Given the description of an element on the screen output the (x, y) to click on. 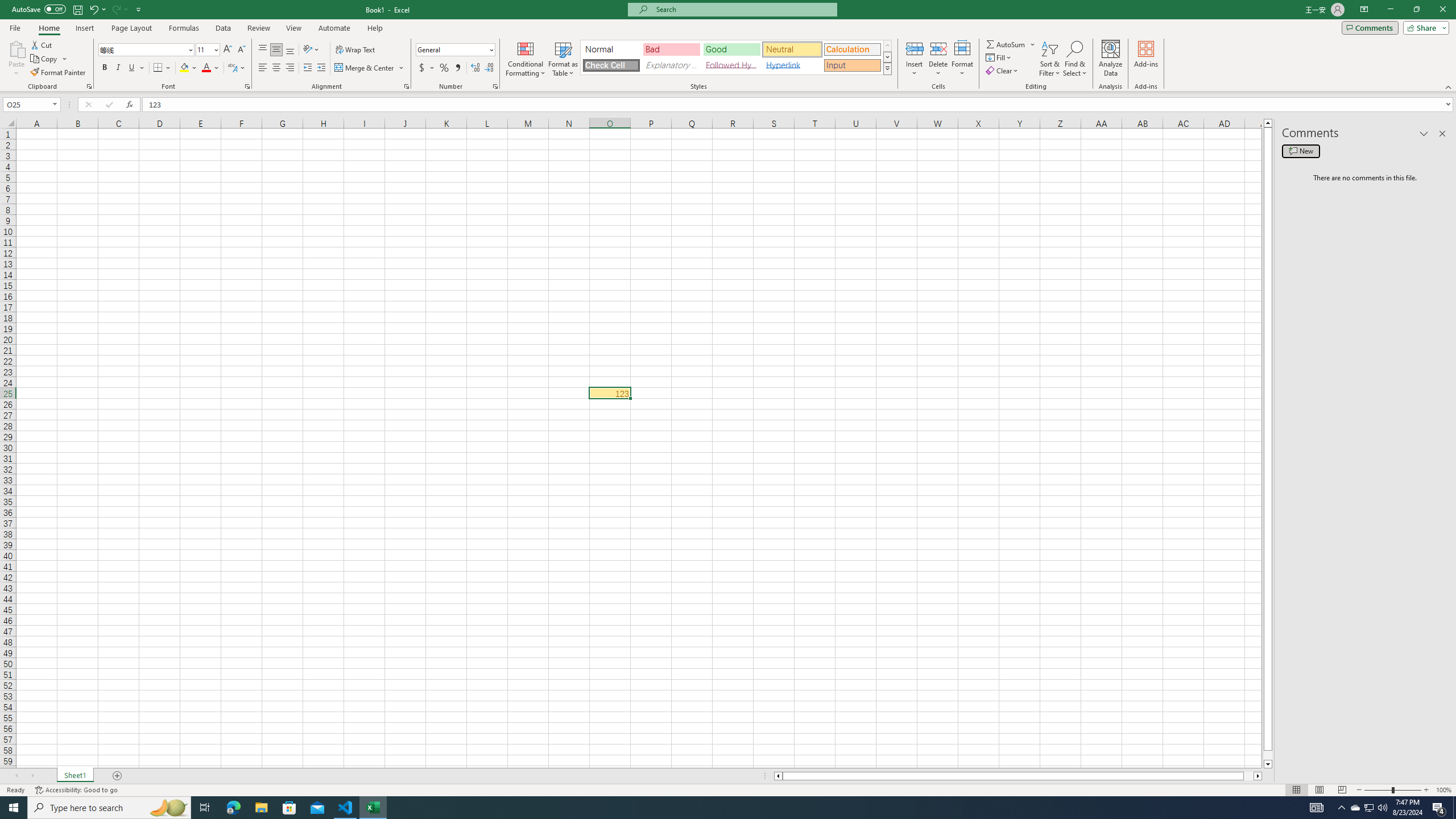
New comment (1300, 151)
Check Cell (611, 65)
Redo (115, 9)
Row up (887, 45)
Sort & Filter (1049, 58)
Open (54, 104)
Good (731, 49)
Decrease Decimal (489, 67)
Paste (16, 58)
File Tab (15, 27)
Delete Cells... (938, 48)
Share (1423, 27)
Help (374, 28)
Format as Table (563, 58)
